Given the description of an element on the screen output the (x, y) to click on. 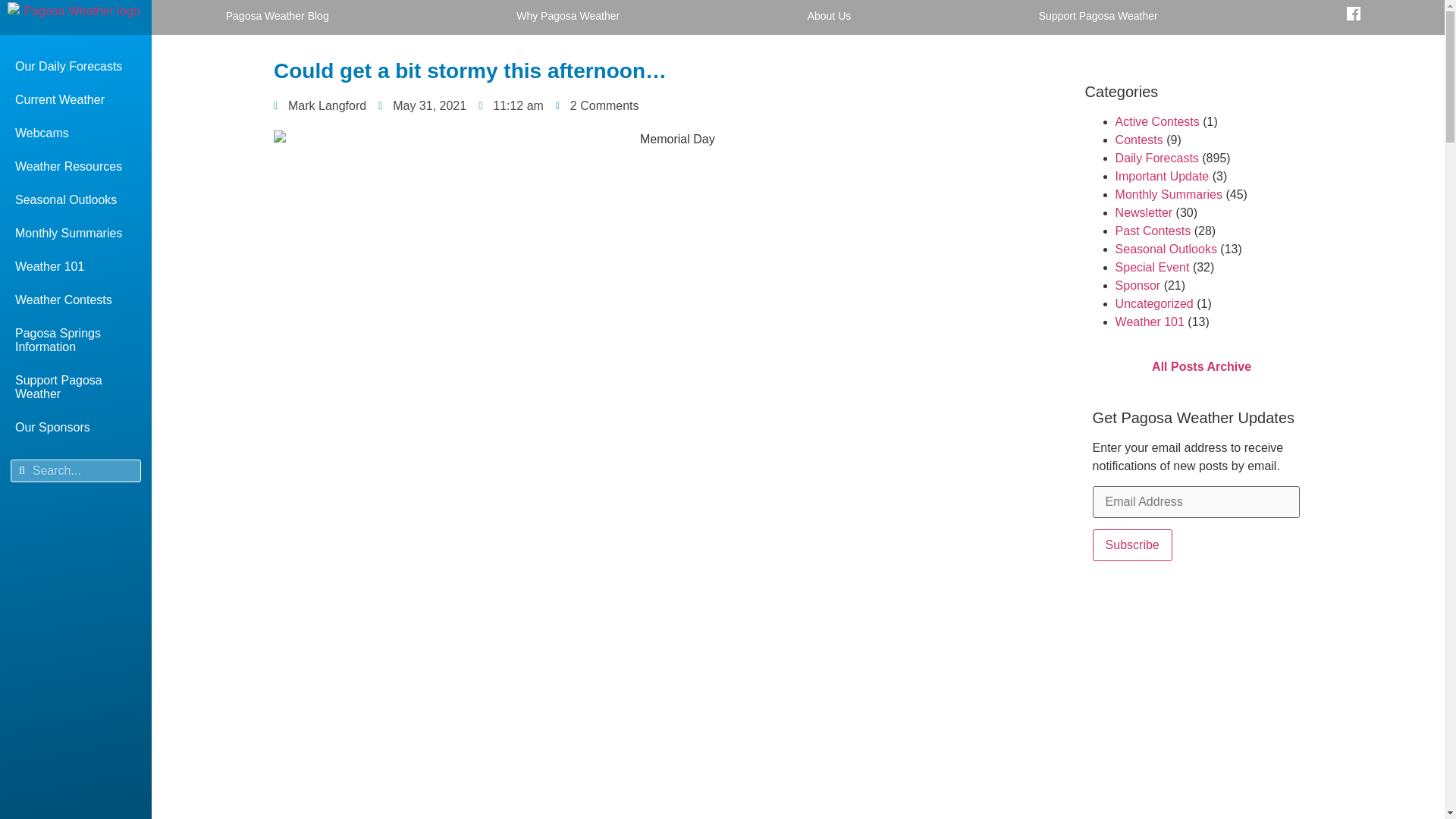
Weather Resources (75, 166)
Current Weather (75, 100)
Our Daily Forecasts (75, 66)
Webcams (75, 133)
